Given the description of an element on the screen output the (x, y) to click on. 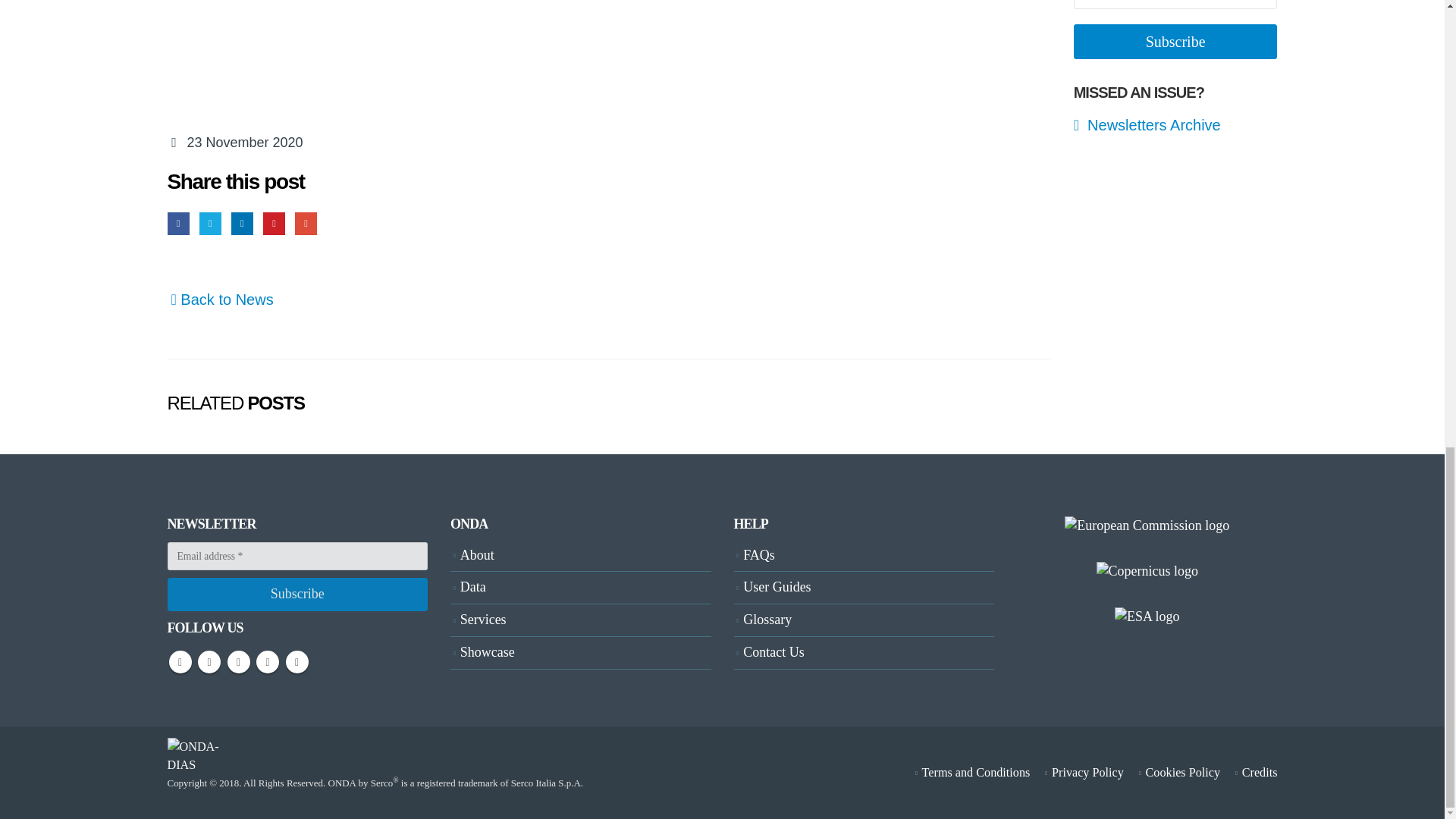
Subscribe (1176, 41)
Subscribe (297, 594)
